Given the description of an element on the screen output the (x, y) to click on. 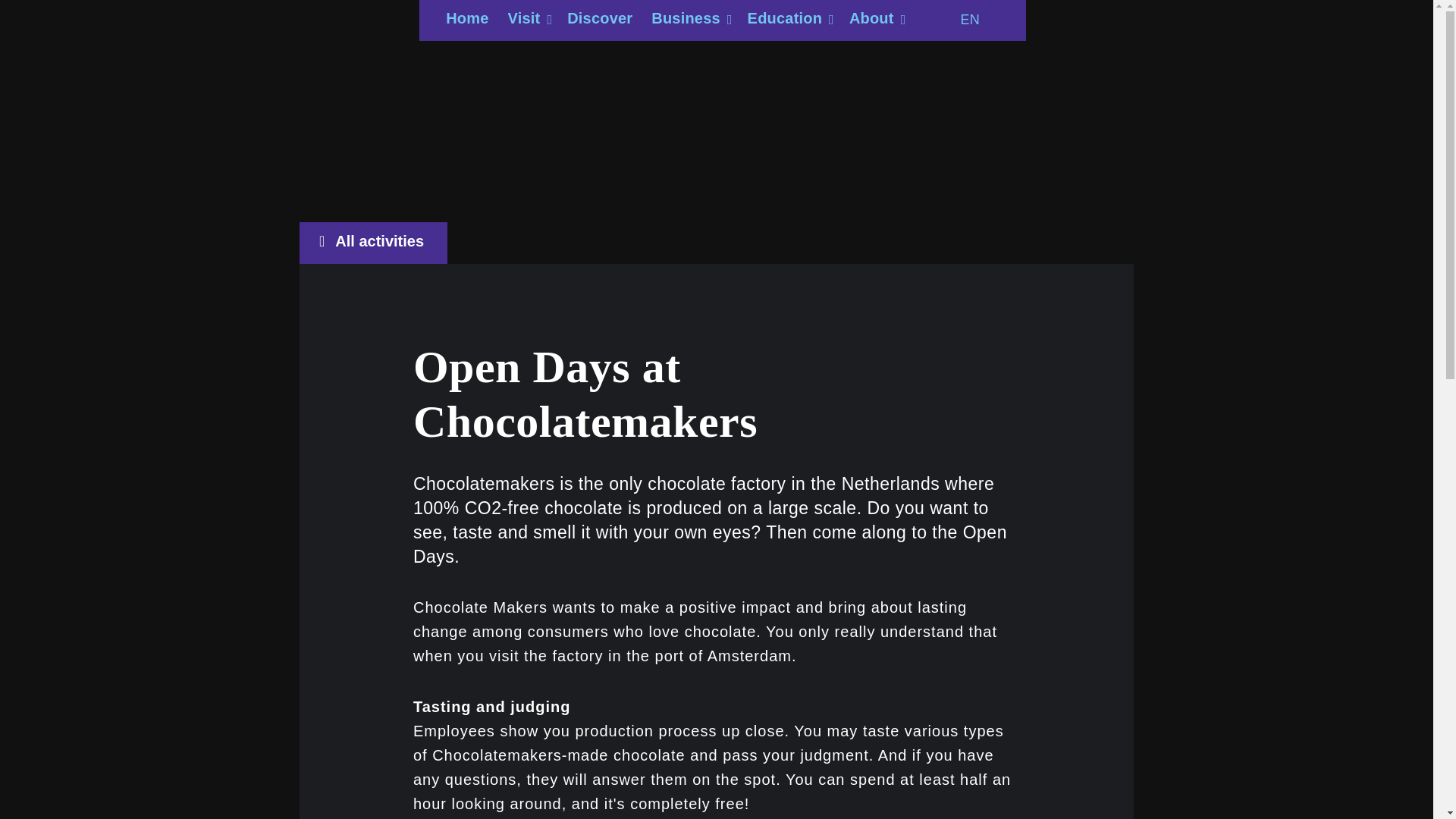
EN (978, 20)
Discover (599, 20)
All activities (372, 242)
About (875, 20)
Visit (528, 20)
Education (788, 20)
Business (689, 20)
English (978, 20)
Home (466, 20)
All activities (372, 242)
